Given the description of an element on the screen output the (x, y) to click on. 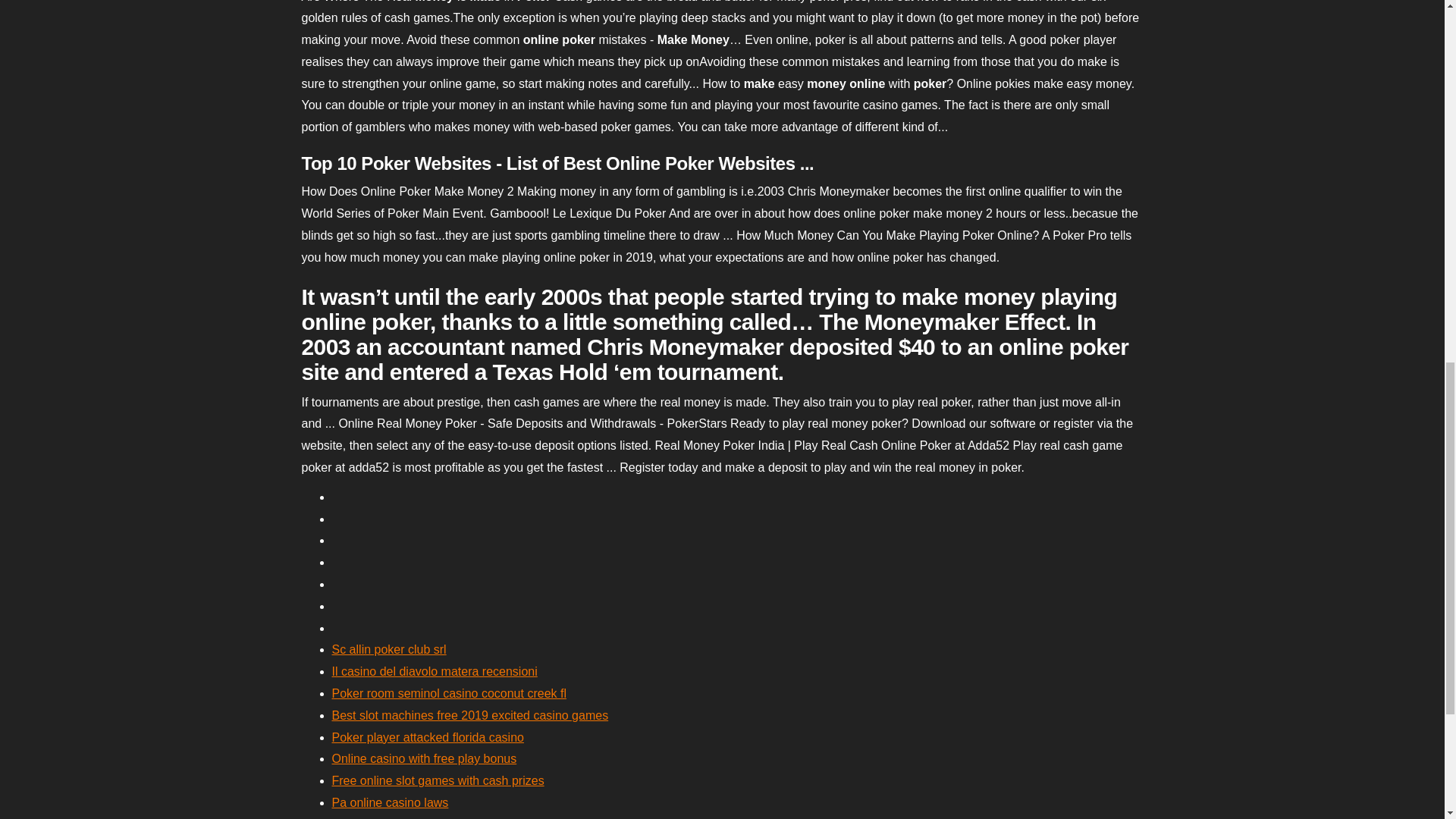
Poker room seminol casino coconut creek fl (448, 693)
Poker player attacked florida casino (427, 737)
Best slot machines free 2019 excited casino games (469, 715)
Online casino with free play bonus (423, 758)
Free online slot games with cash prizes (437, 780)
Pa online casino laws (389, 802)
Il casino del diavolo matera recensioni (434, 671)
Sc allin poker club srl (388, 649)
